Given the description of an element on the screen output the (x, y) to click on. 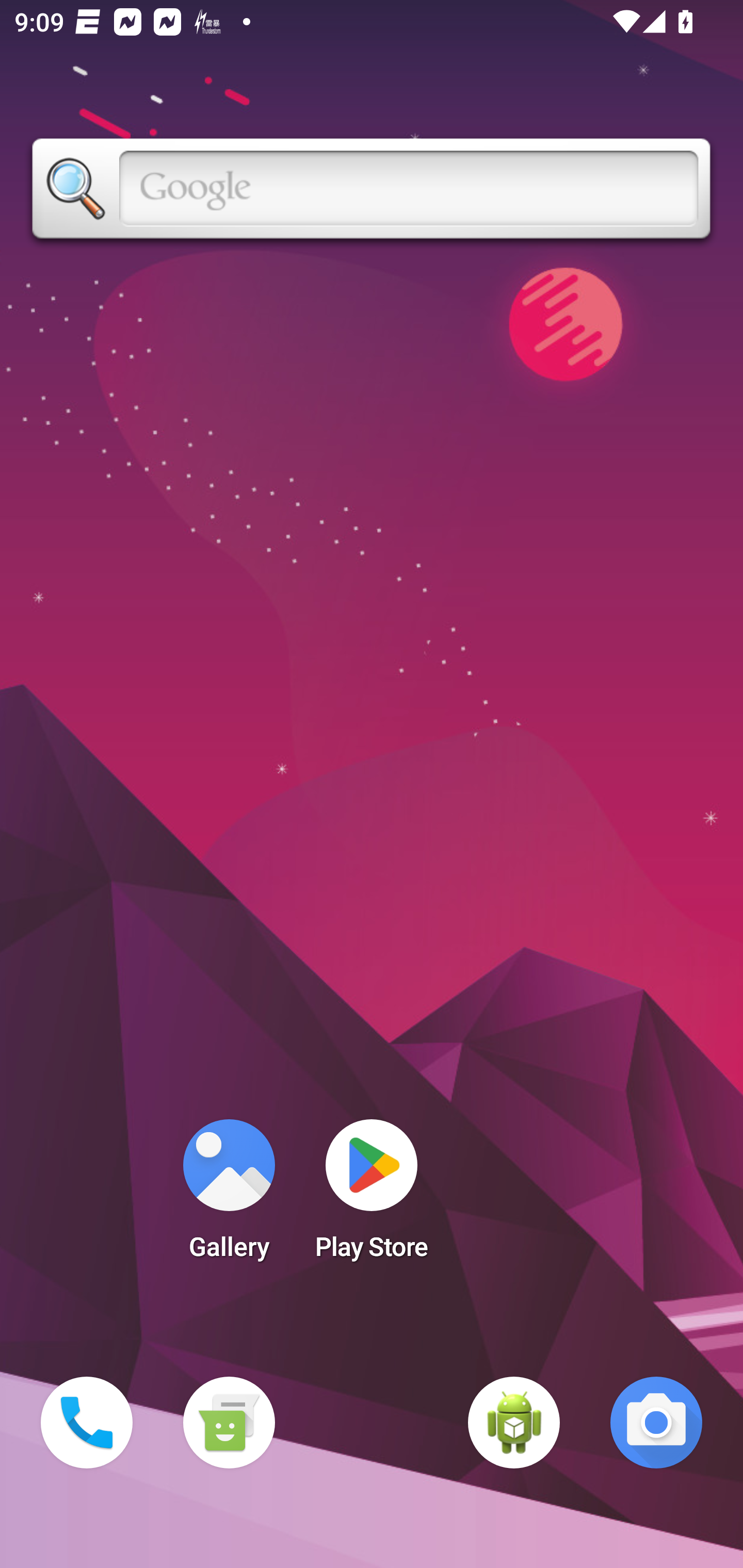
Gallery (228, 1195)
Play Store (371, 1195)
Phone (86, 1422)
Messaging (228, 1422)
WebView Browser Tester (513, 1422)
Camera (656, 1422)
